Given the description of an element on the screen output the (x, y) to click on. 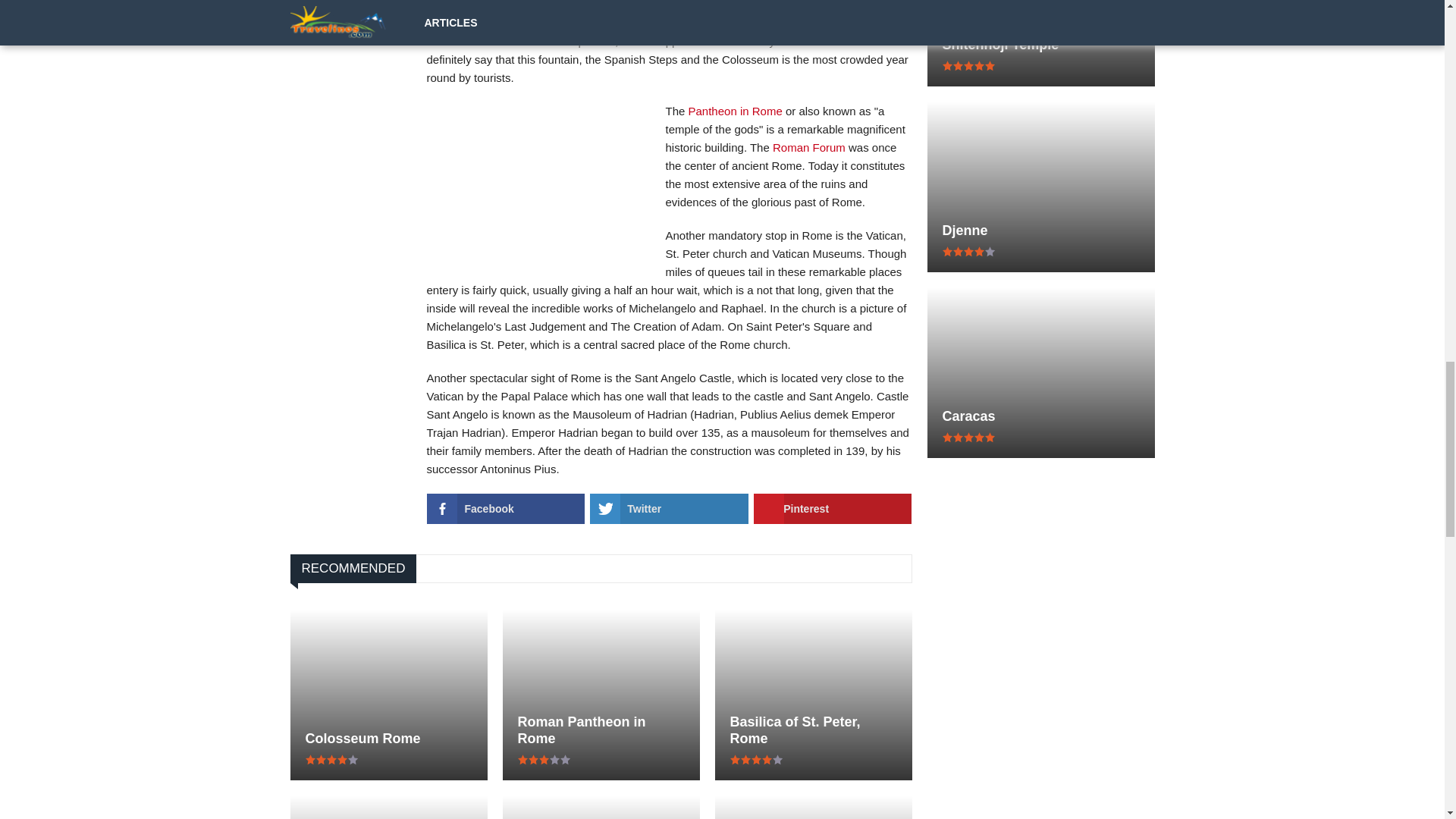
Roman Forum (809, 146)
Share this page on Facebook (504, 508)
Shitennoji Temple (1040, 44)
Share this page on Twitter (668, 508)
Roman Pantheon in Rome (600, 729)
Caracas (1040, 416)
Share this page on Pinterest (832, 508)
Basilica of St. Peter, Rome (812, 729)
Colosseum Rome (387, 738)
Shitennoji Temple (1040, 44)
